Given the description of an element on the screen output the (x, y) to click on. 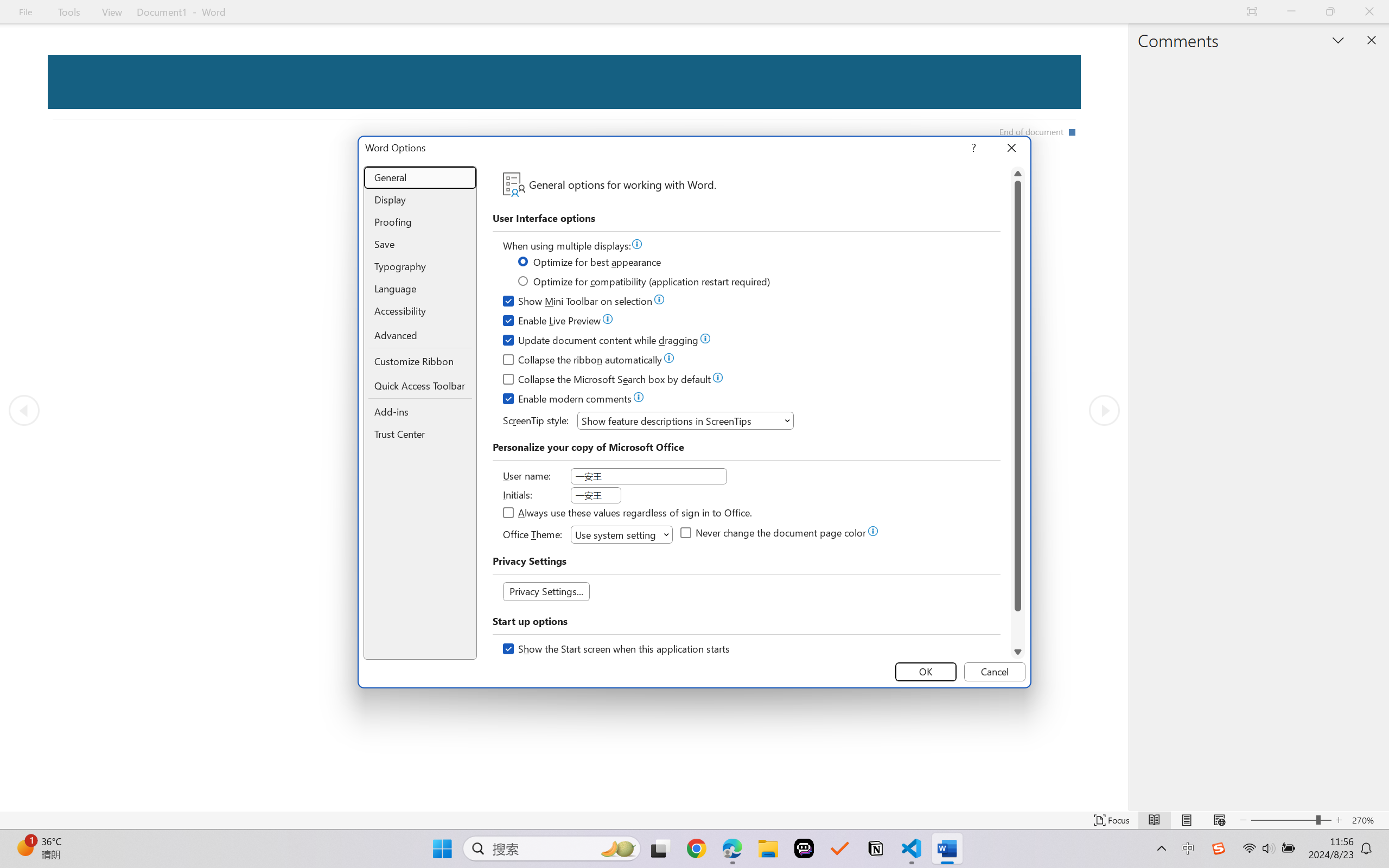
Language (419, 288)
Page down (1018, 627)
Collapse the Microsoft Search box by default (607, 380)
ScreenTip style (685, 420)
Always use these values regardless of sign in to Office. (628, 514)
Office Theme (621, 534)
